Given the description of an element on the screen output the (x, y) to click on. 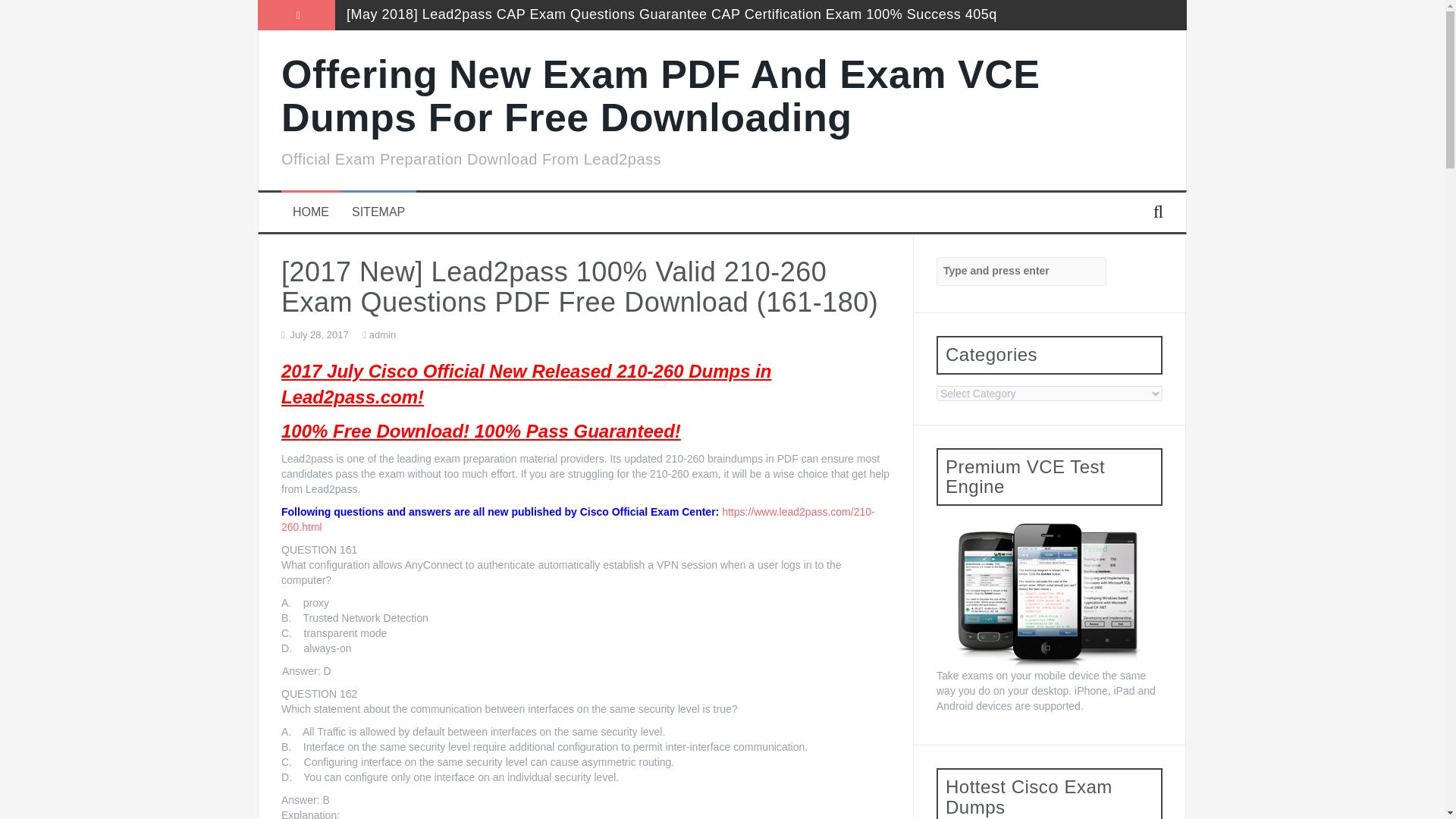
July 28, 2017 (318, 334)
SITEMAP (378, 212)
admin (382, 334)
Search for: (1021, 271)
HOME (310, 212)
